Given the description of an element on the screen output the (x, y) to click on. 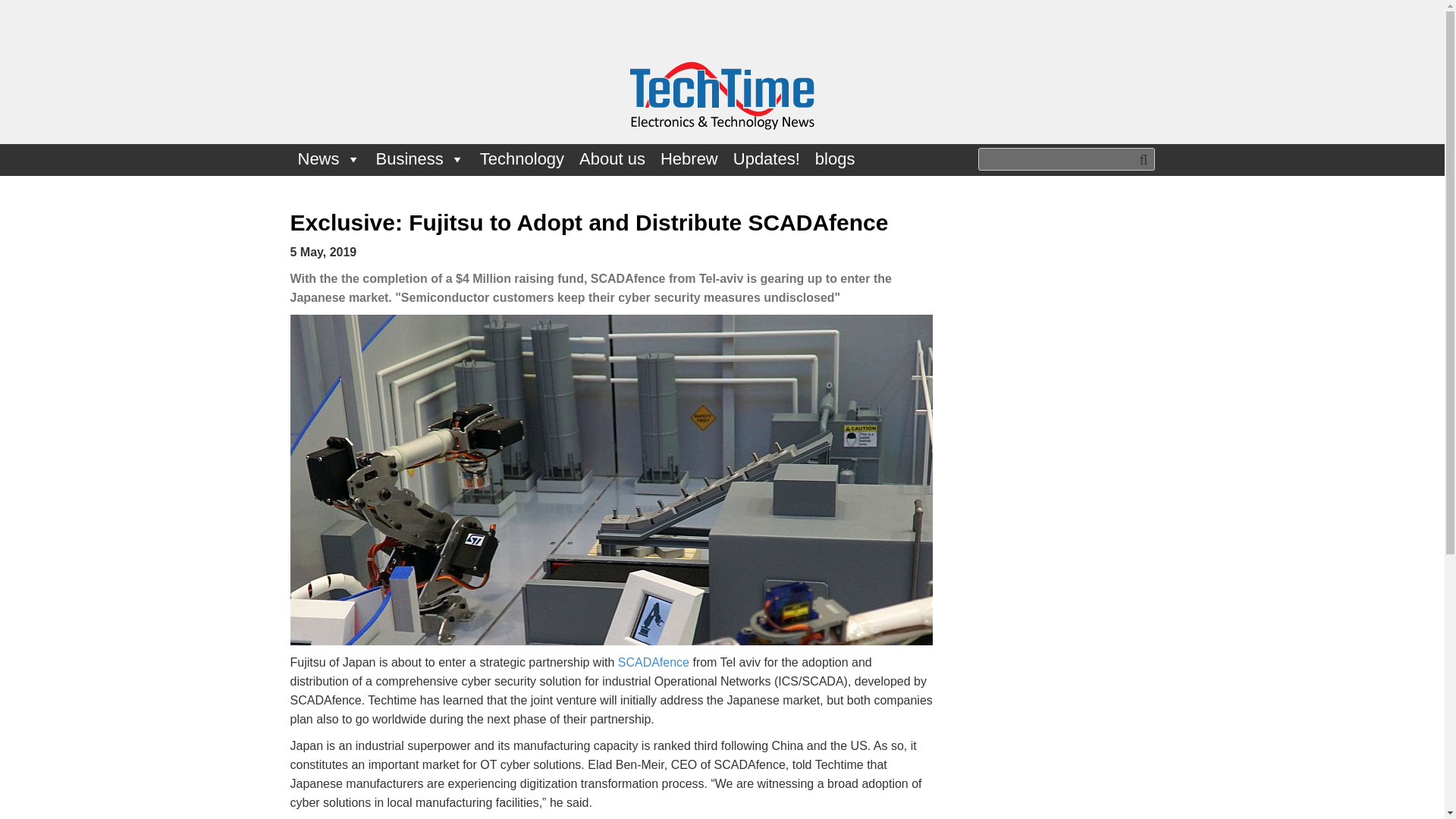
Business (419, 159)
Updates! (766, 159)
Hebrew (688, 159)
News (328, 159)
Technology (521, 159)
blogs (835, 159)
About us (612, 159)
